Given the description of an element on the screen output the (x, y) to click on. 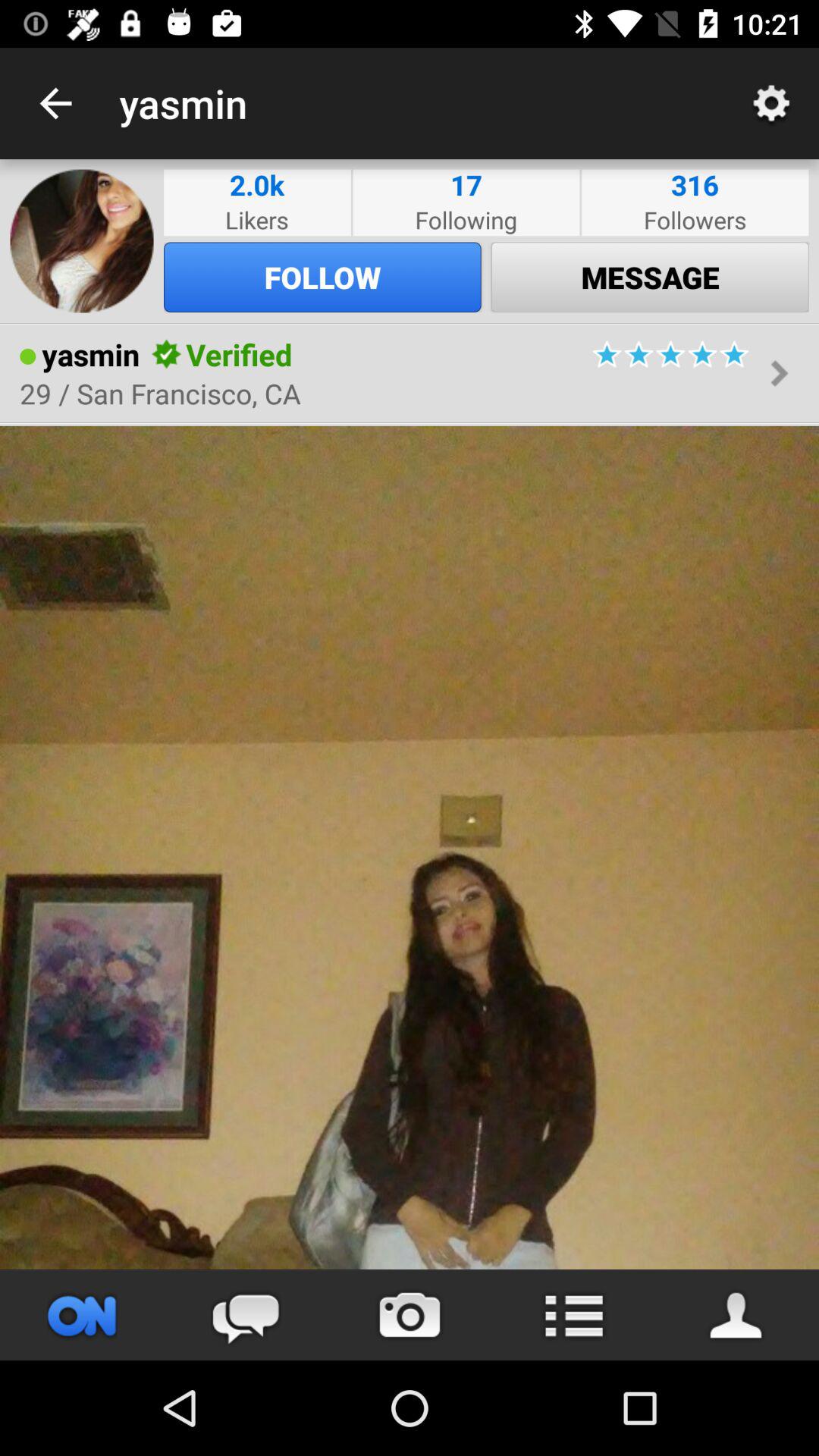
toggle to options (573, 1315)
